Given the description of an element on the screen output the (x, y) to click on. 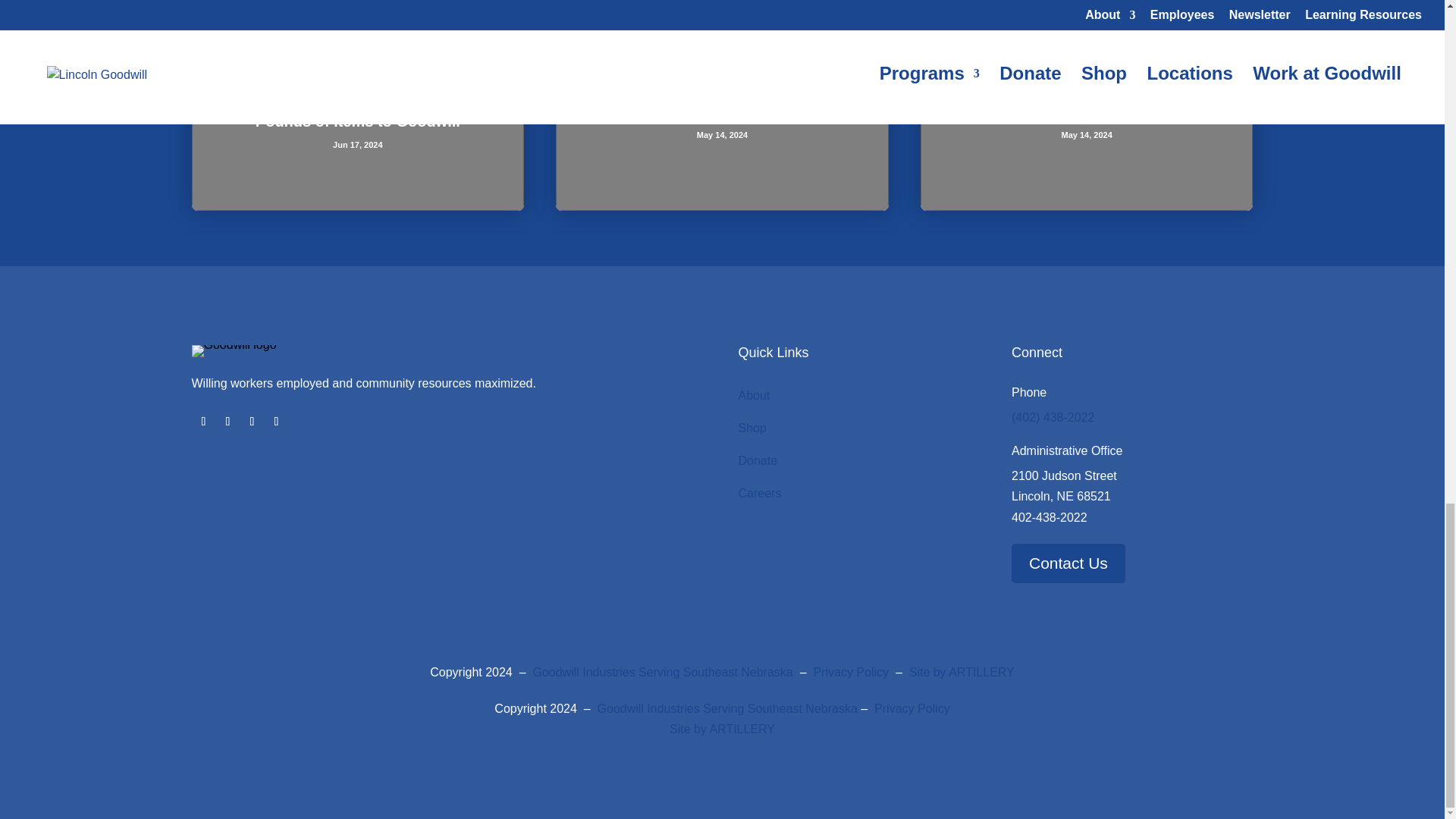
Goodwill logo (233, 350)
Follow on Instagram (202, 421)
Follow on Pinterest (227, 421)
Meet Sandy: Goodwill Office Assistant (1087, 111)
Meet Julius: Job Connection Client (721, 111)
Follow on Facebook (251, 421)
Shop (752, 427)
About (754, 395)
Follow on X (275, 421)
